Given the description of an element on the screen output the (x, y) to click on. 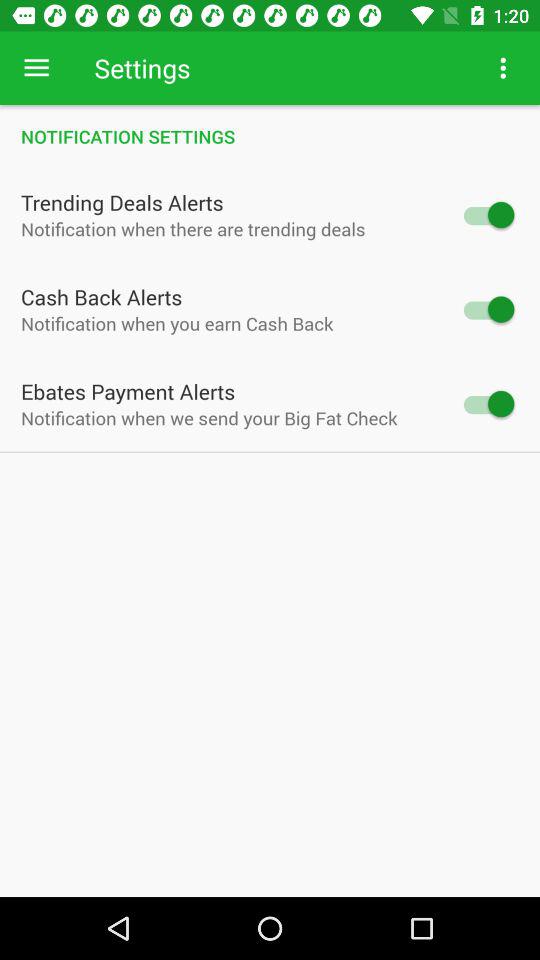
get notifications for ebate payments alerts (487, 403)
